Given the description of an element on the screen output the (x, y) to click on. 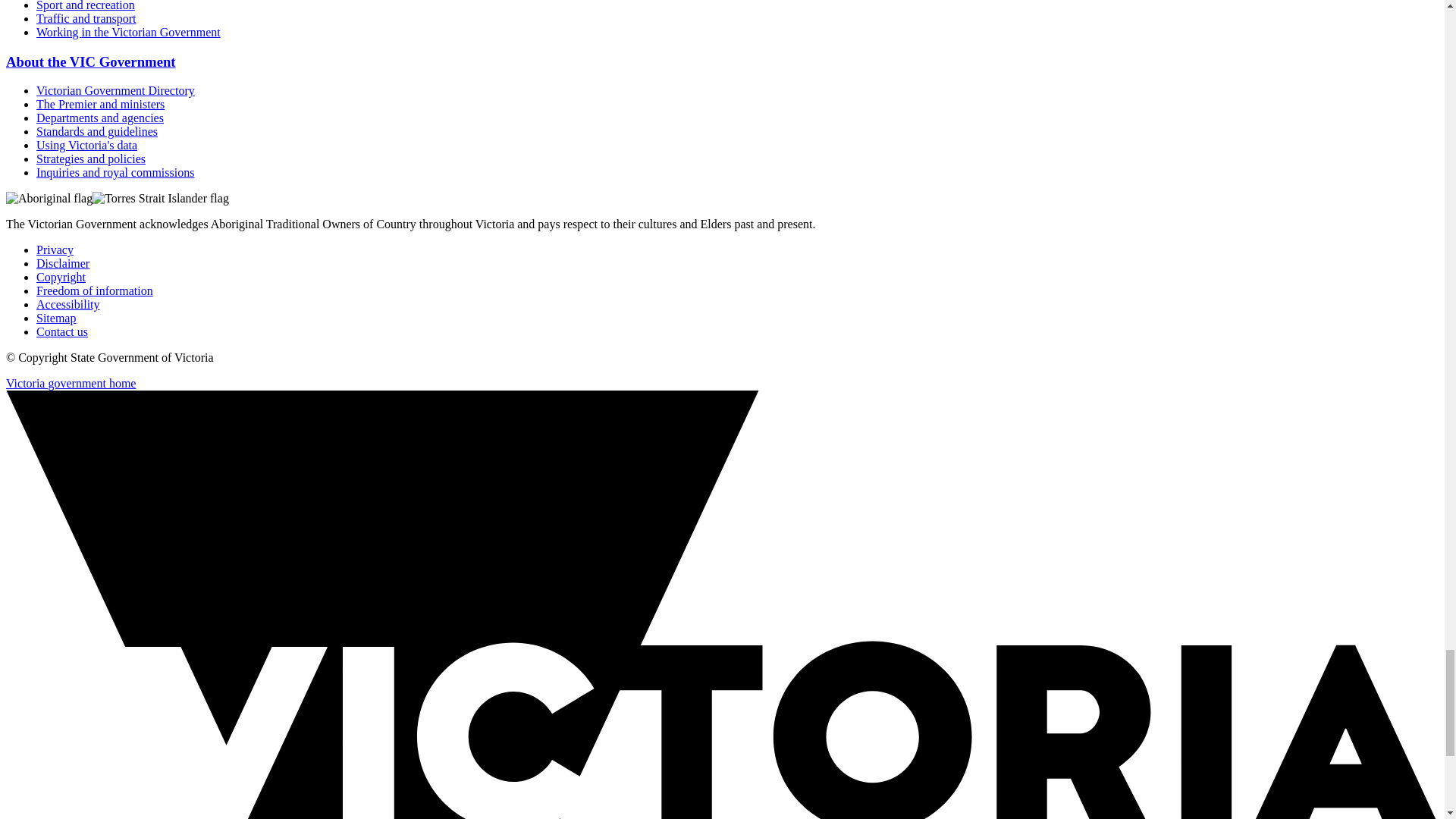
Standards and guidelines (96, 131)
Inquiries and royal commissions (114, 172)
Working in the Victorian Government (128, 31)
Strategies and policies (90, 158)
The Premier and ministers (100, 103)
Copyright (60, 277)
Using Victoria's data (86, 144)
Traffic and transport (86, 18)
About the VIC Government (90, 61)
Victorian Government Directory (115, 90)
Freedom of information (94, 290)
Sport and recreation (85, 5)
Privacy (55, 249)
Accessibility (68, 304)
Departments and agencies (99, 117)
